Given the description of an element on the screen output the (x, y) to click on. 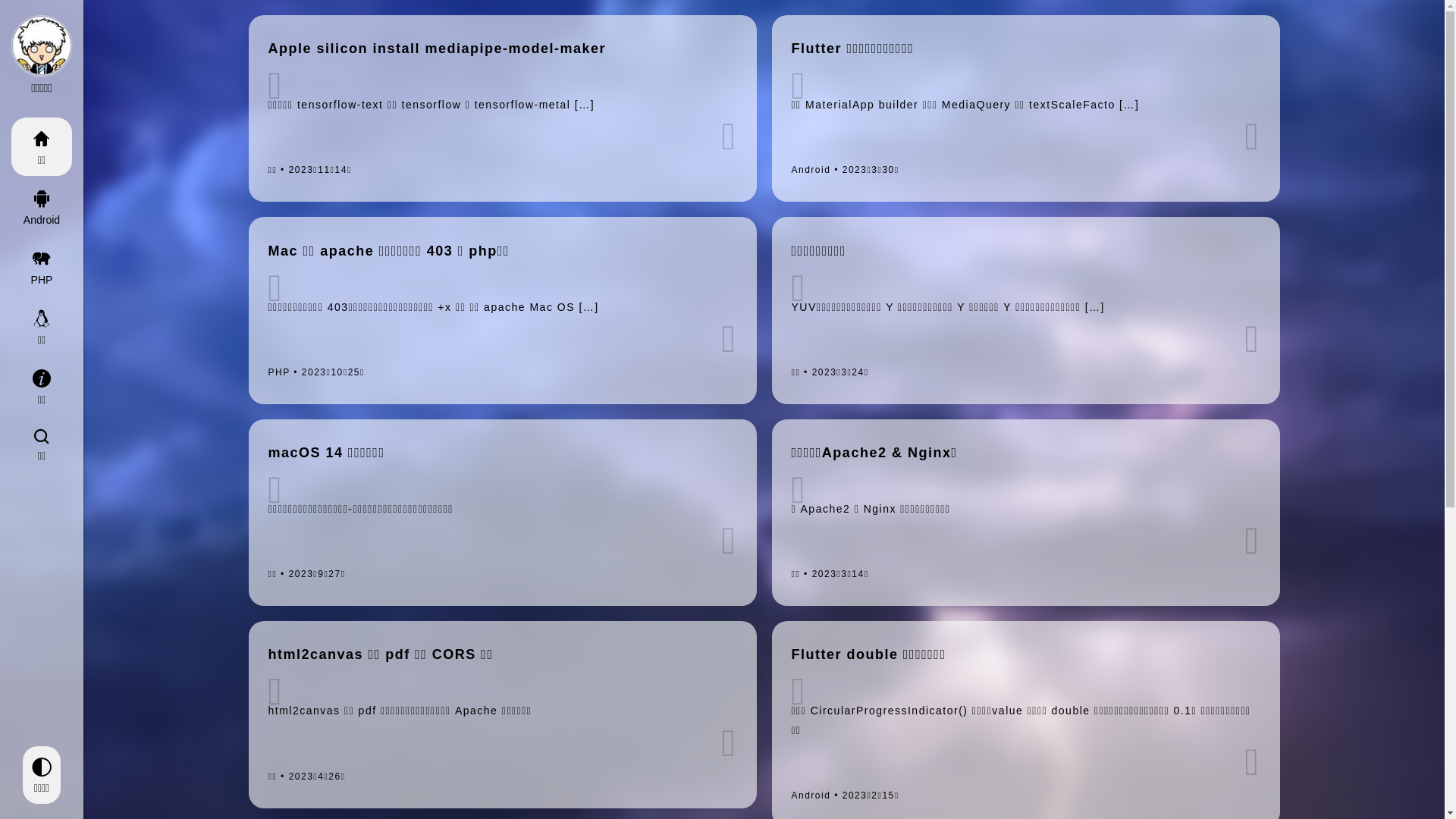
PHP Element type: text (41, 265)
Android Element type: text (41, 206)
